Given the description of an element on the screen output the (x, y) to click on. 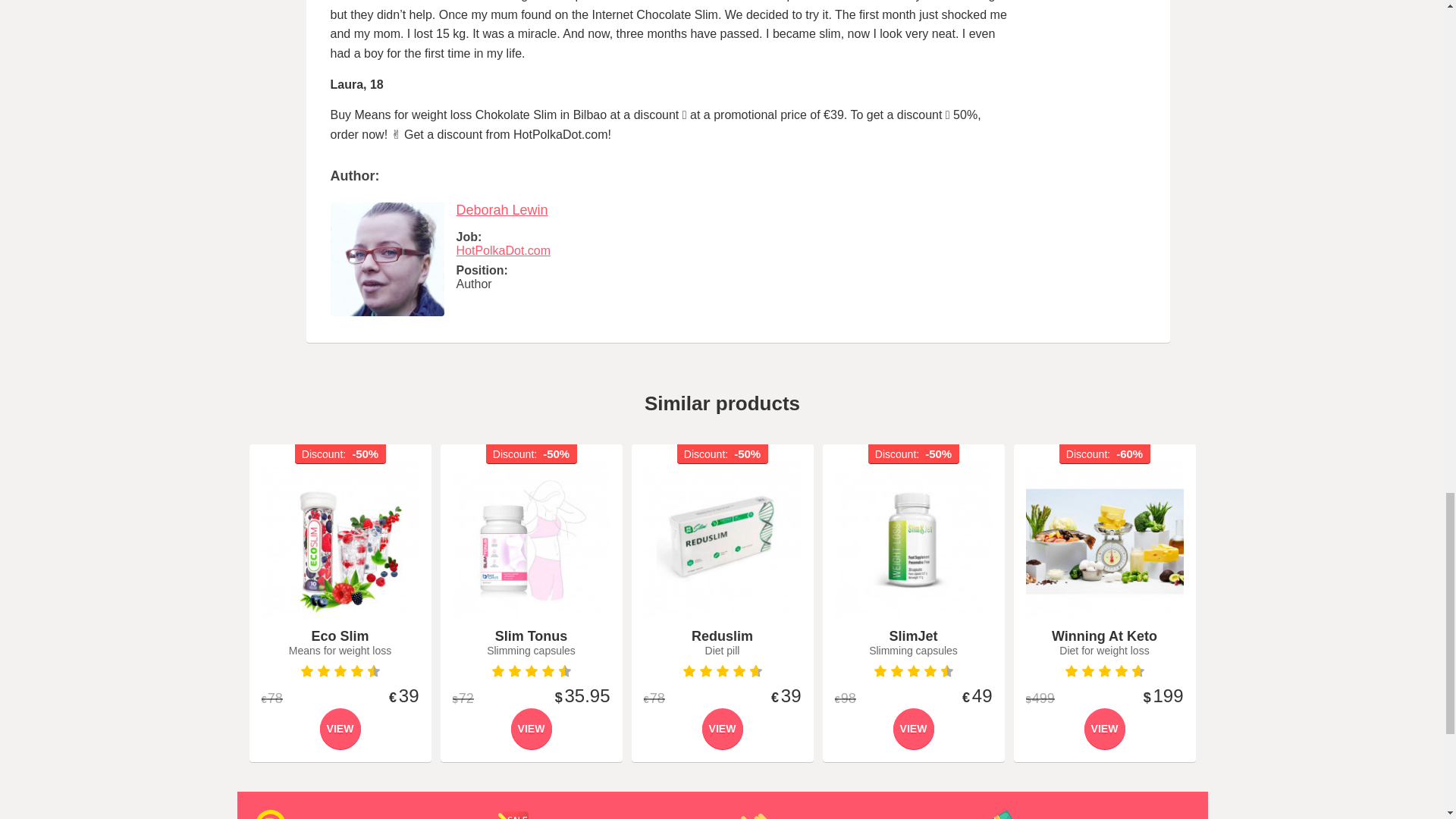
Slim Tonus (530, 540)
SlimJet (912, 540)
Eco Slim (339, 540)
Reduslim (721, 540)
Winning At Keto (1103, 540)
